Given the description of an element on the screen output the (x, y) to click on. 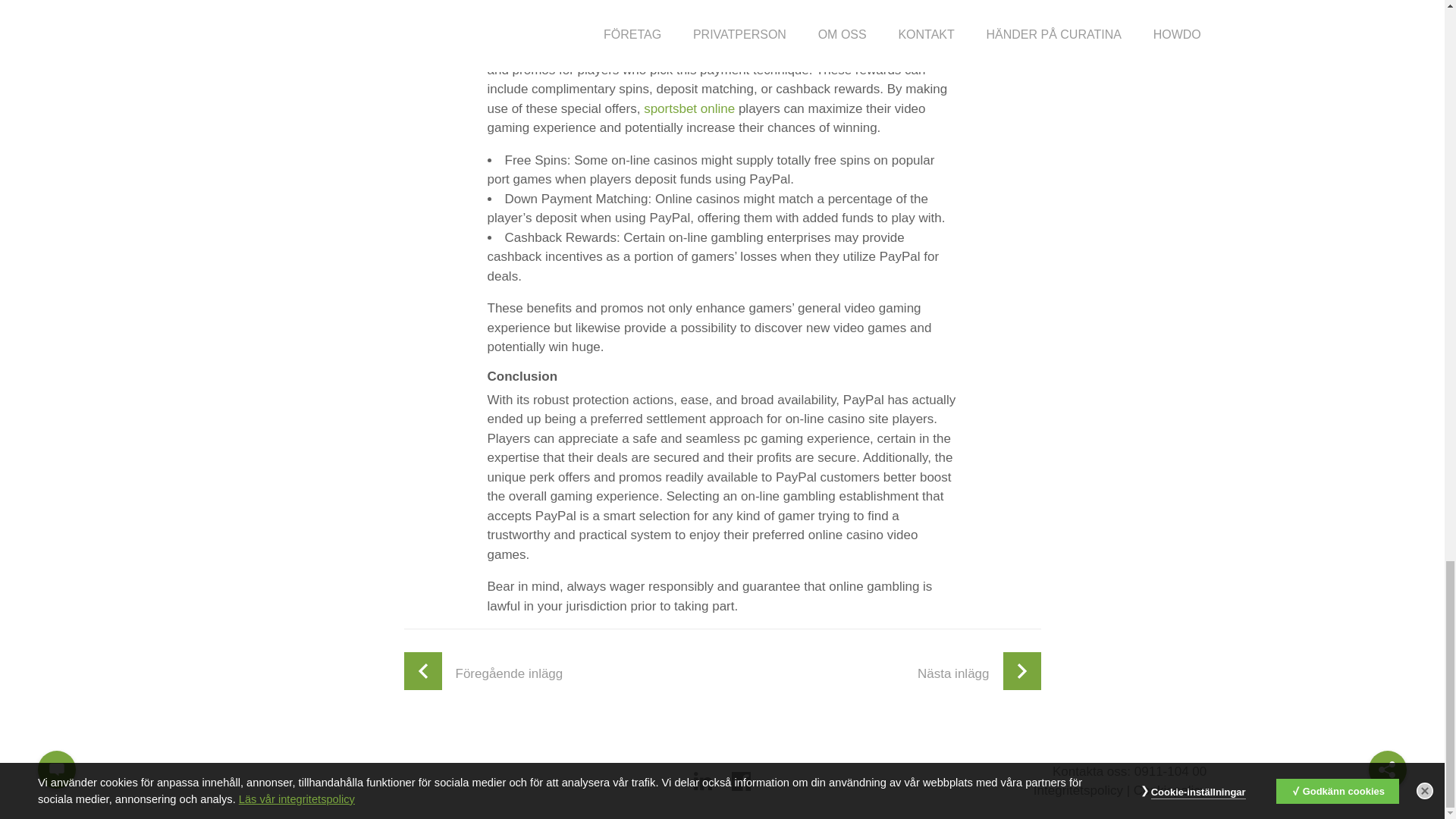
facebook Created with Sketch. (741, 781)
linkedin Created with Sketch. (703, 781)
sportsbet online (689, 108)
